Given the description of an element on the screen output the (x, y) to click on. 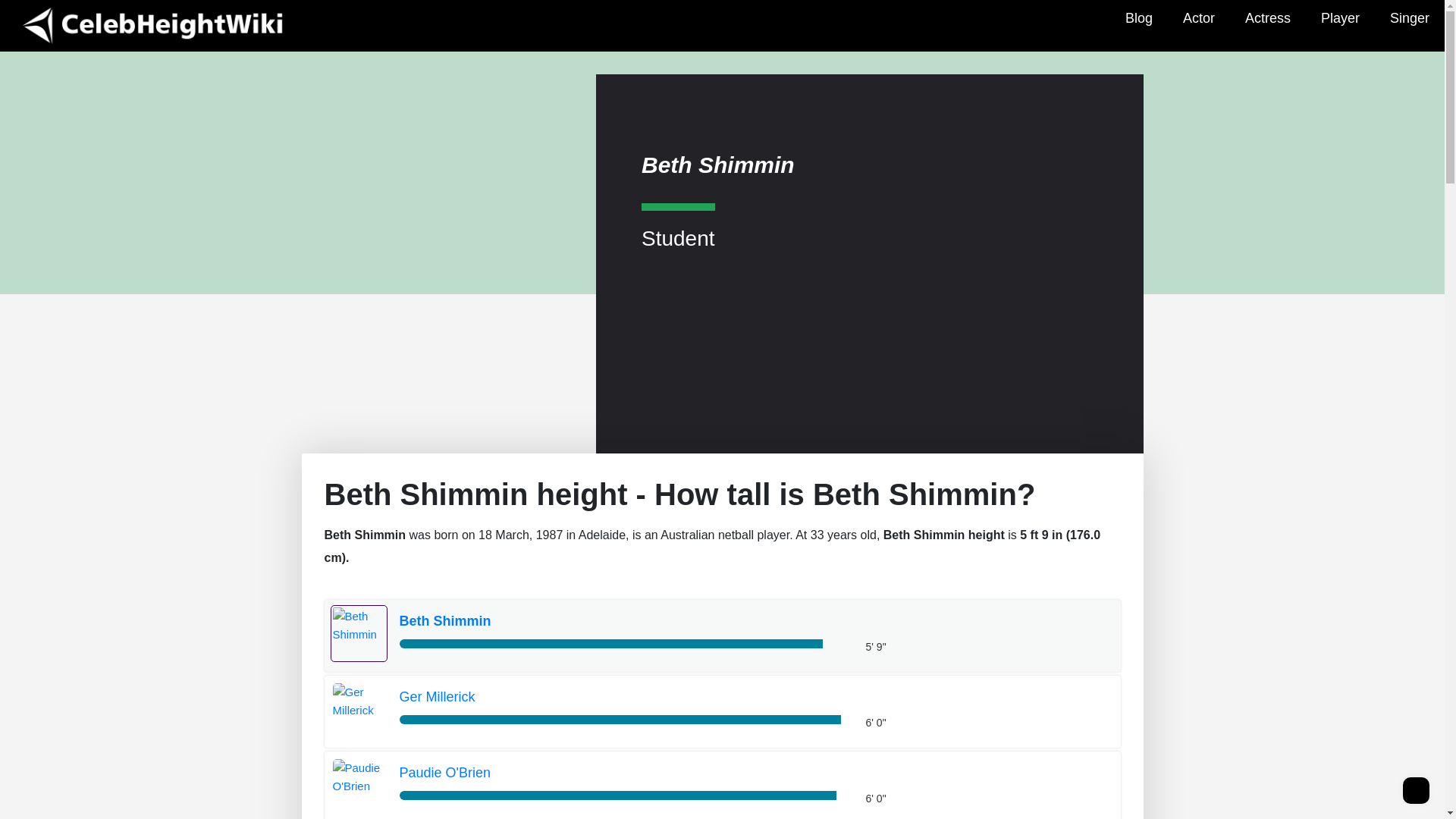
Beth Shimmin Compare (359, 633)
Paudie O'Brien Compare (359, 775)
Paudie O'Brien (623, 773)
Beth Shimmin Compare (623, 621)
Blog (1138, 18)
Ger Millerick Compare (623, 697)
Ger Millerick (623, 697)
Actress (1268, 18)
Player (1340, 18)
Paudie O'Brien Compare (623, 773)
Ger Millerick Compare (359, 699)
Beth Shimmin (623, 621)
Student (678, 225)
Actor (1198, 18)
